Given the description of an element on the screen output the (x, y) to click on. 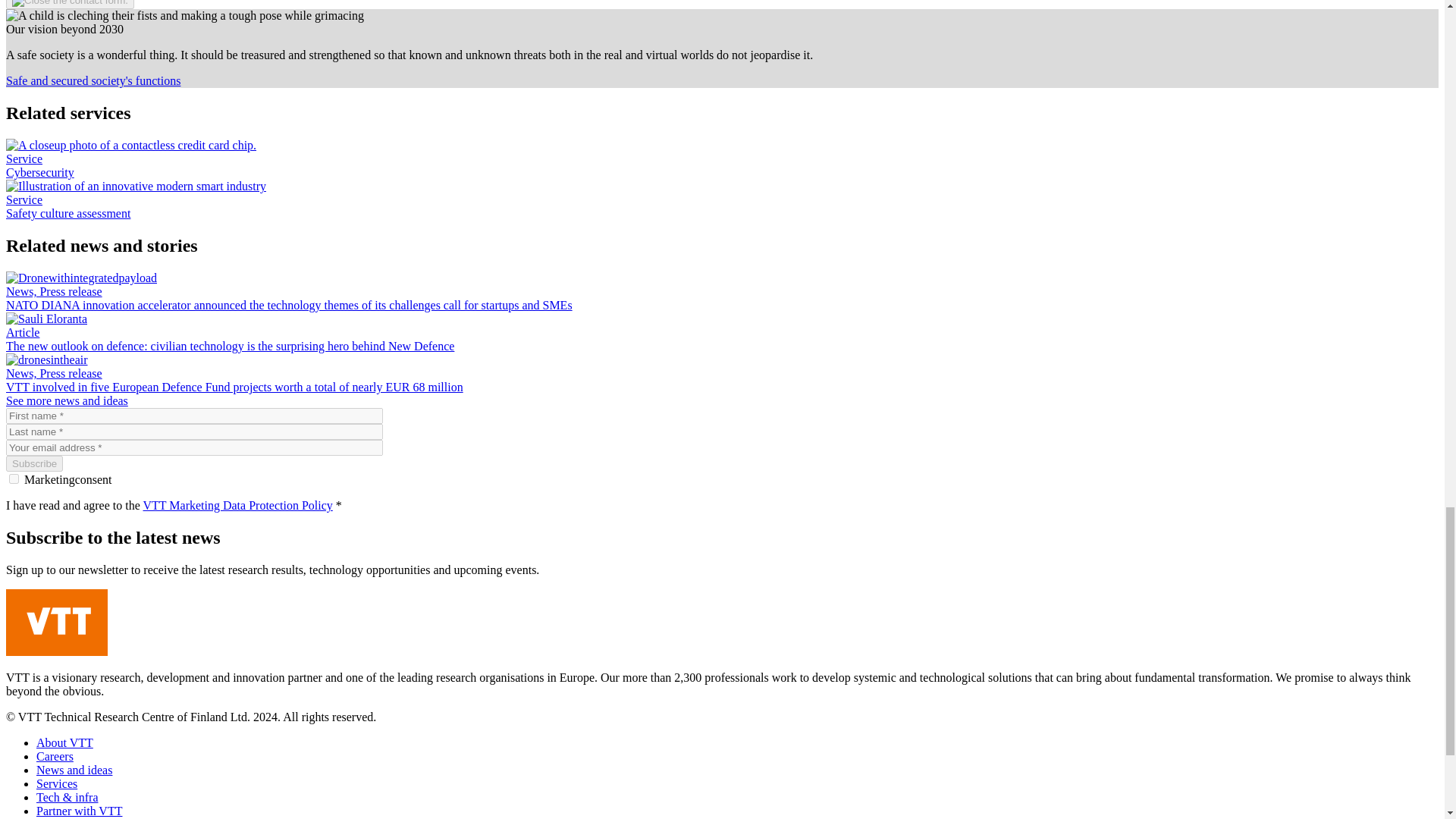
1 (13, 479)
vtt-child-making-strong-pose (184, 15)
Subscribe (33, 463)
